Given the description of an element on the screen output the (x, y) to click on. 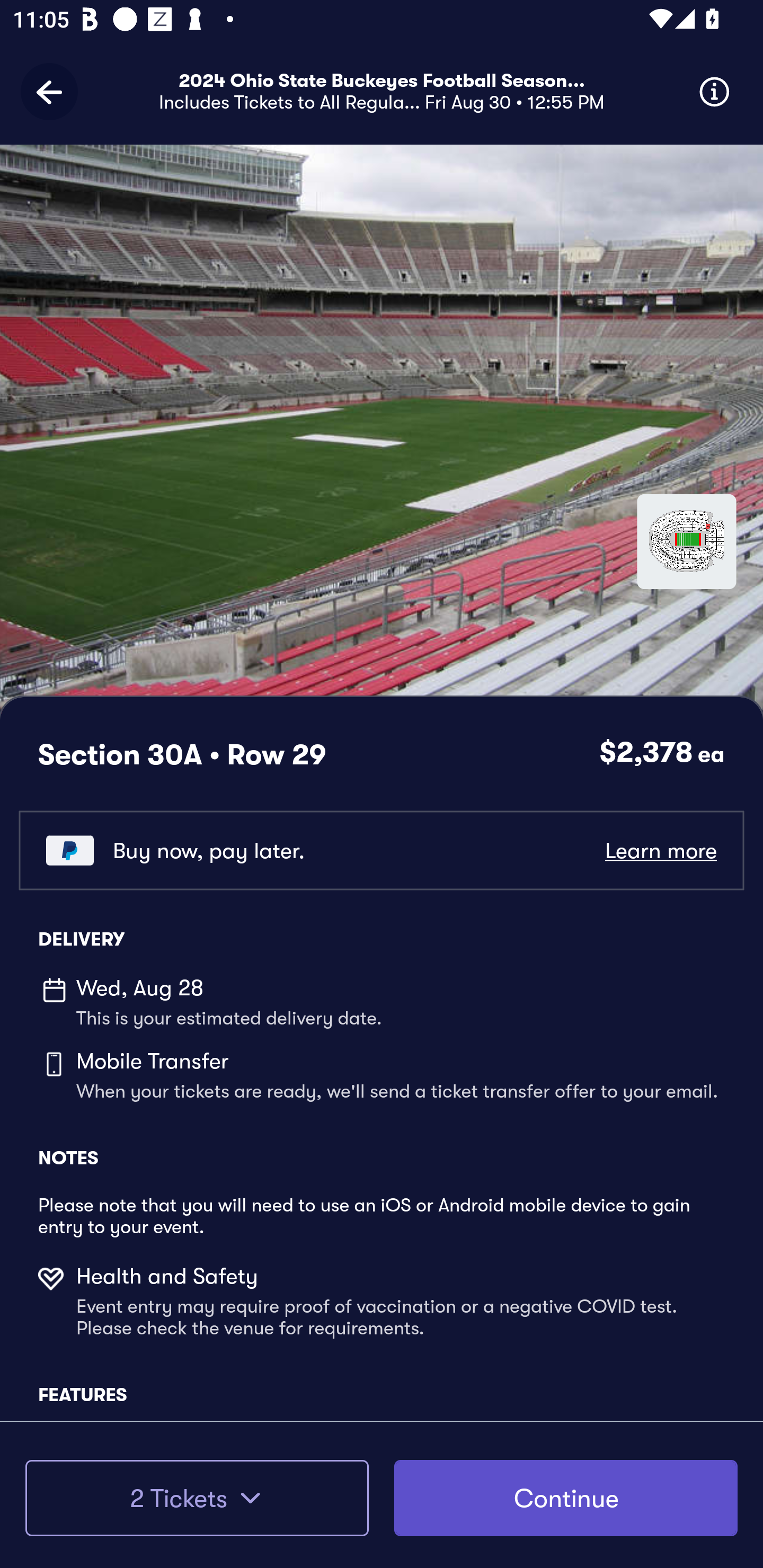
Learn more (660, 850)
2 Tickets (196, 1497)
Continue (565, 1497)
